Given the description of an element on the screen output the (x, y) to click on. 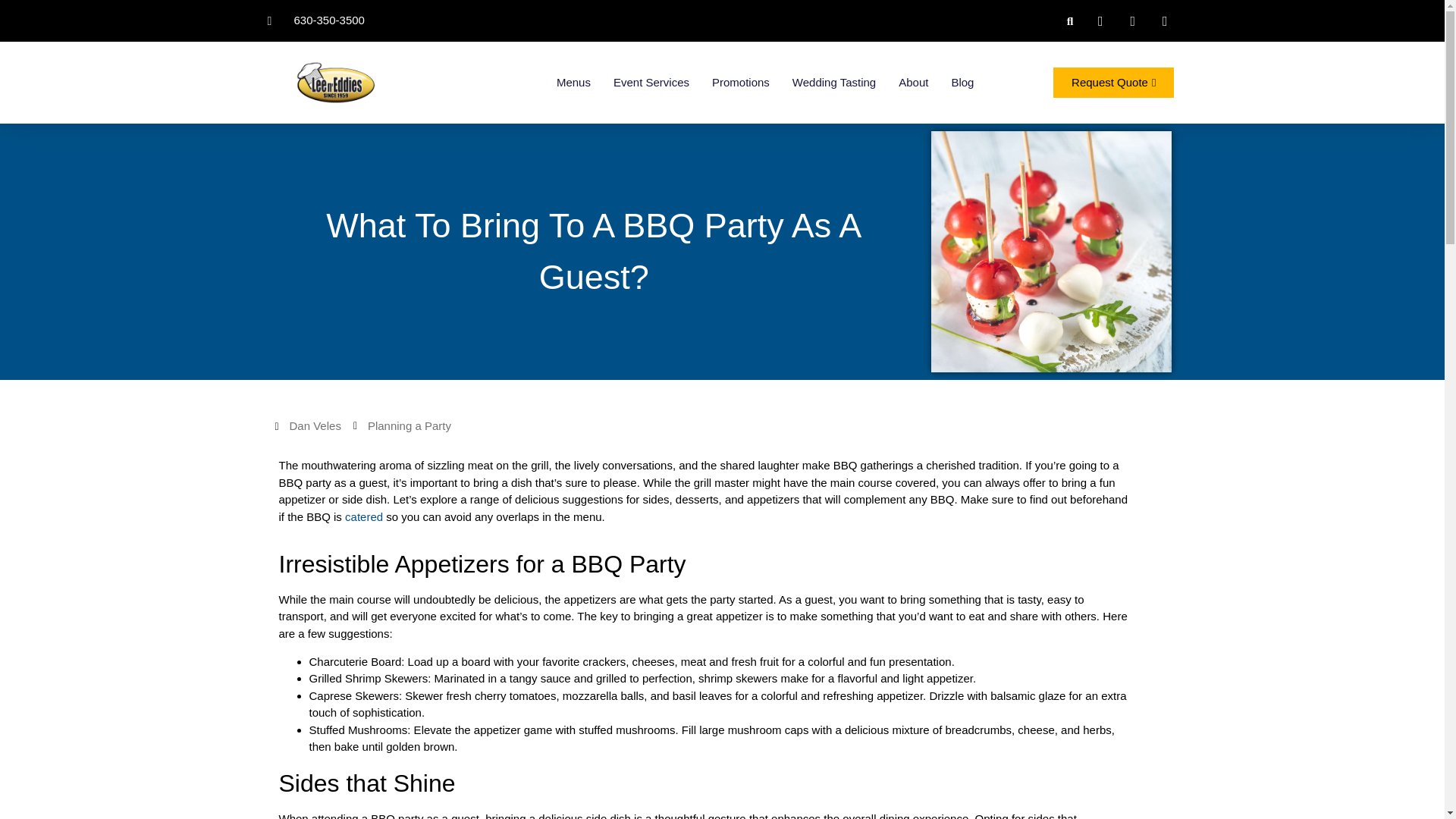
Event Services (650, 82)
Menus (573, 82)
Wedding Tasting (834, 82)
Blog (962, 82)
About (913, 82)
Promotions (740, 82)
